Given the description of an element on the screen output the (x, y) to click on. 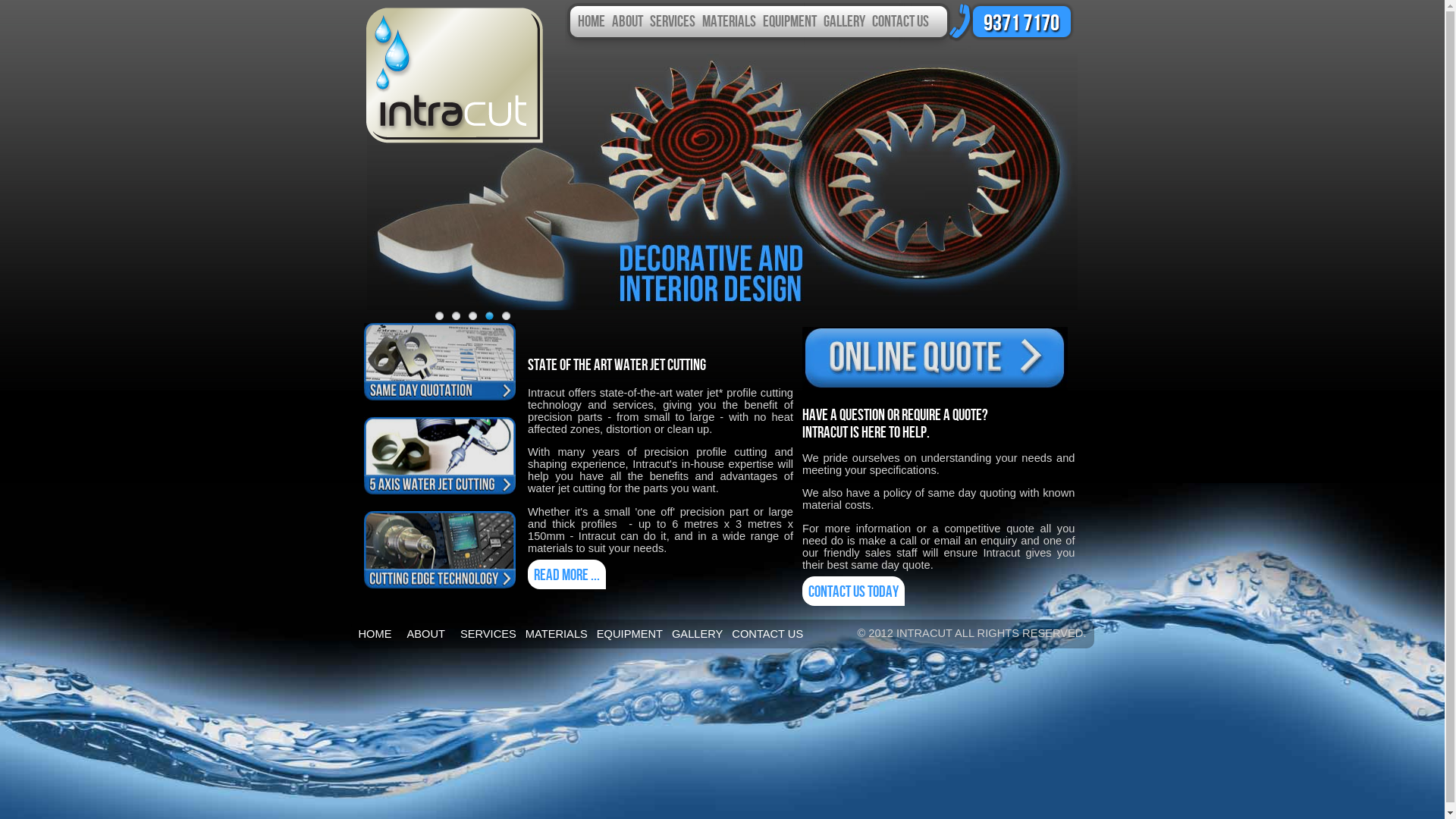
EQUIPMENT Element type: text (789, 20)
SERVICES Element type: text (488, 633)
SERVICES Element type: text (671, 20)
HOME Element type: text (374, 633)
MATERIALS Element type: text (556, 633)
ABOUT Element type: text (425, 633)
EQUIPMENT Element type: text (629, 633)
Read more ... Element type: text (566, 574)
GALLERY Element type: text (844, 20)
ABOUT Element type: text (626, 20)
CONTACT US Element type: text (767, 633)
GALLERY Element type: text (696, 633)
MATERIALS Element type: text (729, 20)
HOME Element type: text (591, 20)
Contact Us Today Element type: text (853, 590)
CONTACT US Element type: text (900, 20)
